Given the description of an element on the screen output the (x, y) to click on. 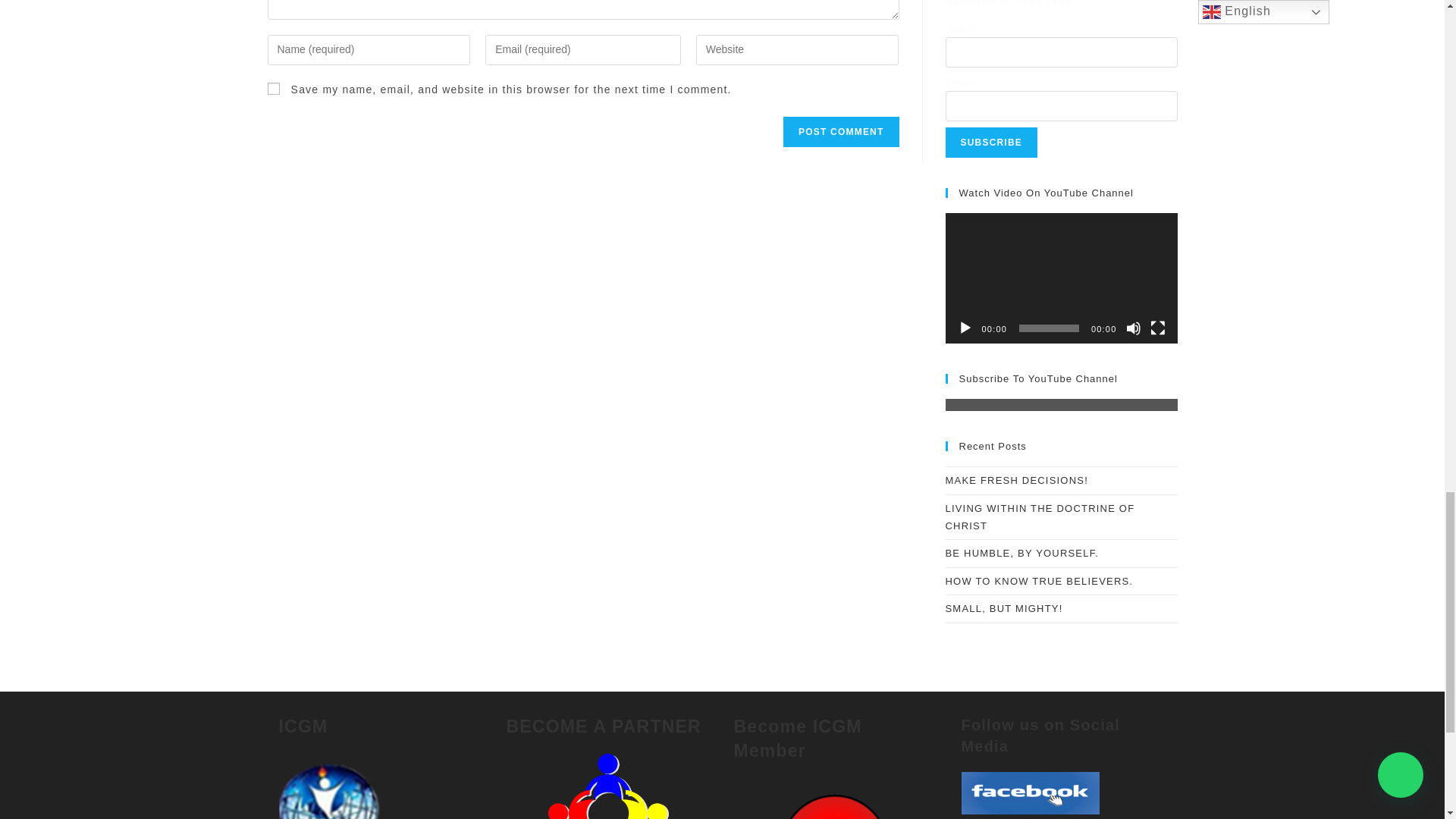
yes (272, 88)
Play (964, 328)
Subscribe (990, 142)
Mute (1132, 328)
Fullscreen (1157, 328)
Post Comment (840, 132)
